Given the description of an element on the screen output the (x, y) to click on. 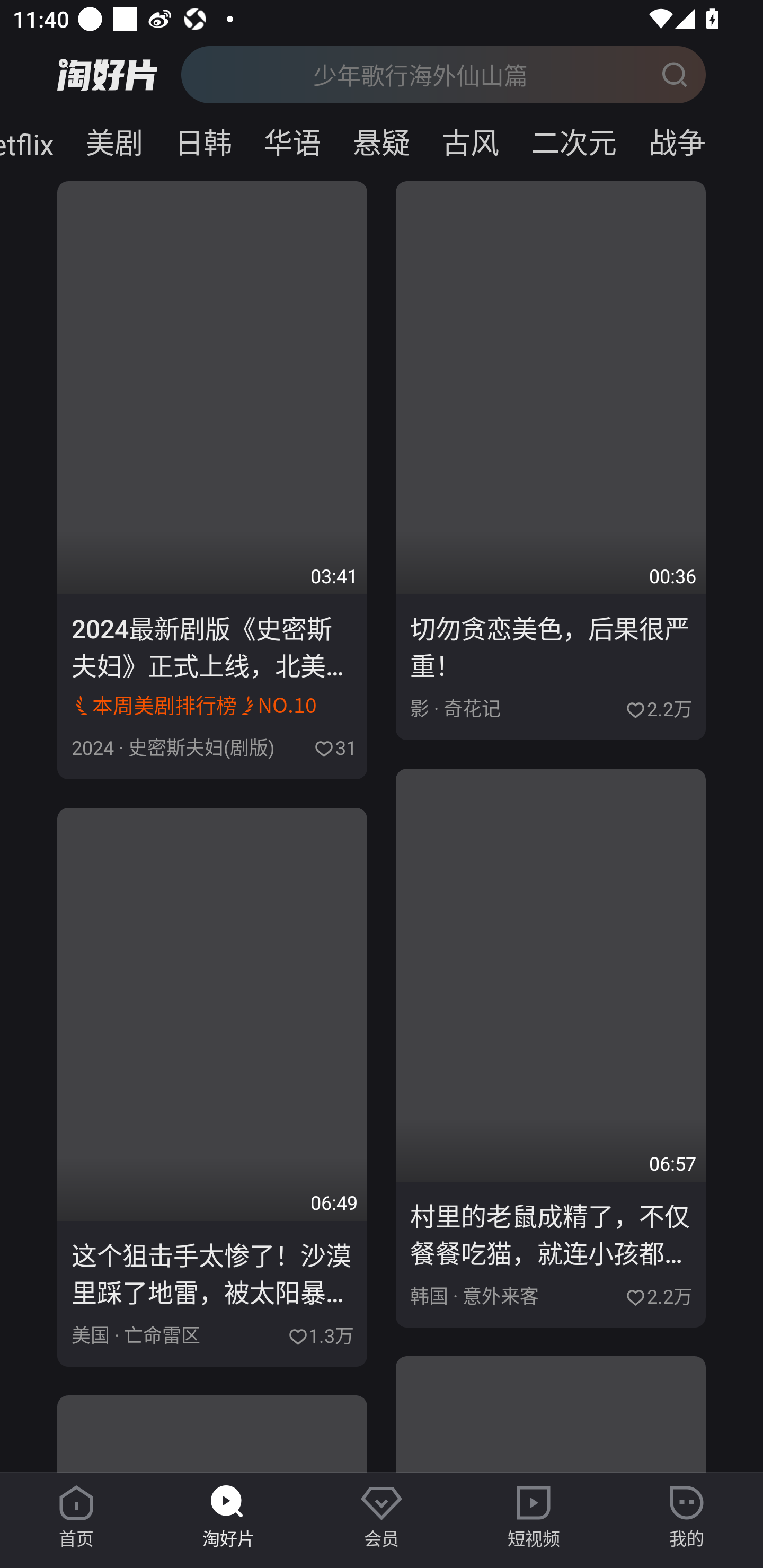
搜索框，少年歌行海外仙山篇 少年歌行海外仙山篇  (443, 74)
美剧 (114, 139)
日韩 (202, 139)
华语 (292, 139)
悬疑 (381, 139)
古风 (470, 139)
二次元 (573, 139)
战争 (697, 139)
00:36 切勿贪恋美色，后果很严重！ 影 · 奇花记  2.2万 (550, 460)
 2.2万 (657, 707)
 31 (332, 746)
06:57 村里的老鼠成精了，不仅餐餐吃猫，就连小孩都不放过！ 韩国 · 意外来客  2.2万 (550, 1048)
 2.2万 (657, 1293)
 1.3万 (319, 1332)
首页 (76, 1516)
淘好片 (228, 1516)
会员 (381, 1516)
短视频 (533, 1516)
我的 (686, 1516)
